Given the description of an element on the screen output the (x, y) to click on. 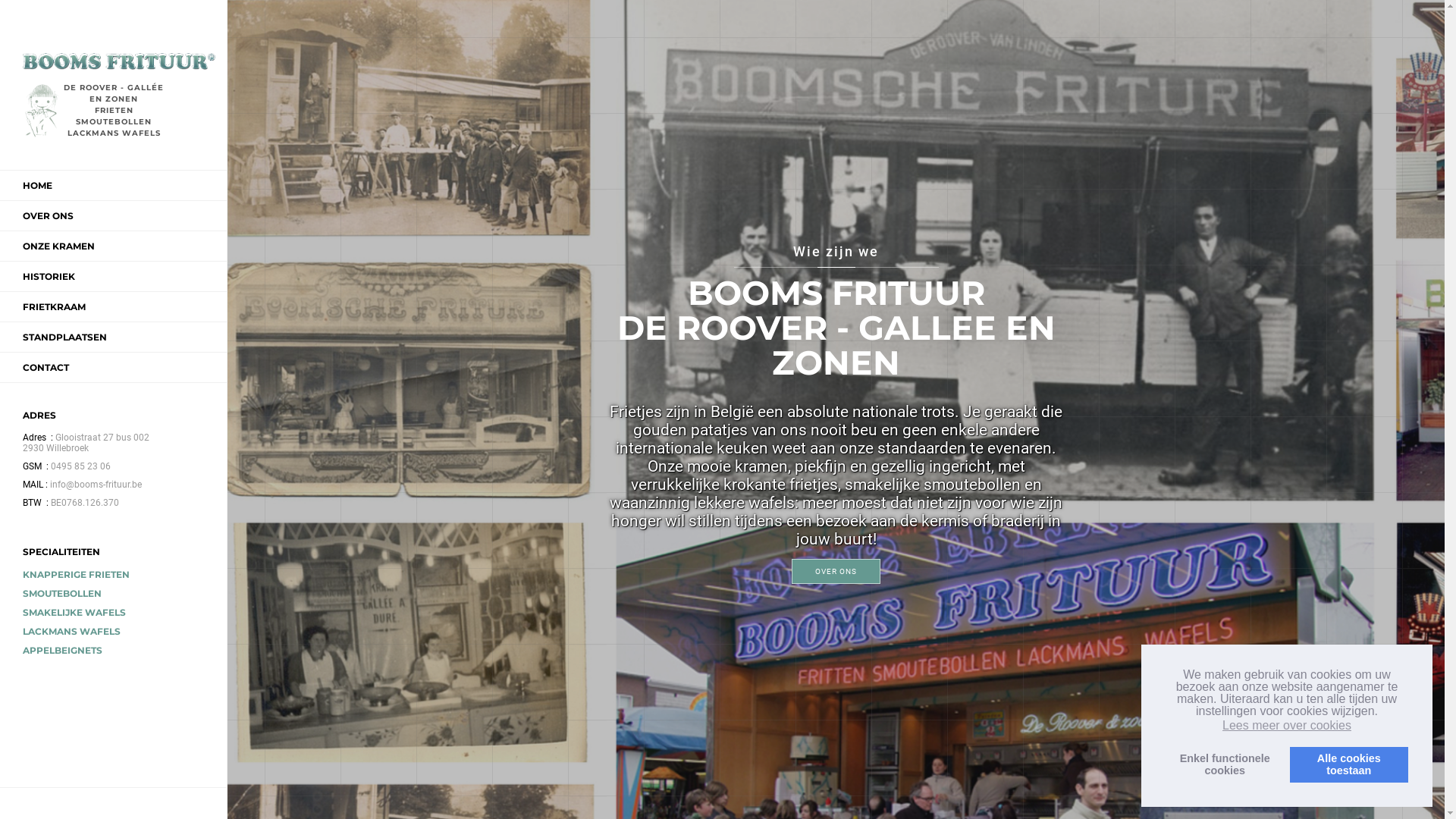
Glooistraat 27 bus 002
2930 Willebroek Element type: text (85, 442)
ONZE KRAMEN Element type: text (58, 245)
CONTACT Element type: text (45, 367)
OVER ONS Element type: text (47, 215)
STANDPLAATSEN Element type: text (64, 336)
HISTORIEK Element type: text (48, 276)
FRIETKRAAM Element type: text (53, 306)
Alle cookies
toestaan Element type: text (1348, 764)
info@booms-frituur.be Element type: text (92, 484)
OVER ONS Element type: text (835, 570)
0495 85 23 06 Element type: text (76, 466)
Lees meer over cookies Element type: text (1286, 725)
HOME Element type: text (37, 185)
Enkel functionele
cookies Element type: text (1224, 764)
BE0768.126.370 Element type: text (81, 502)
